Given the description of an element on the screen output the (x, y) to click on. 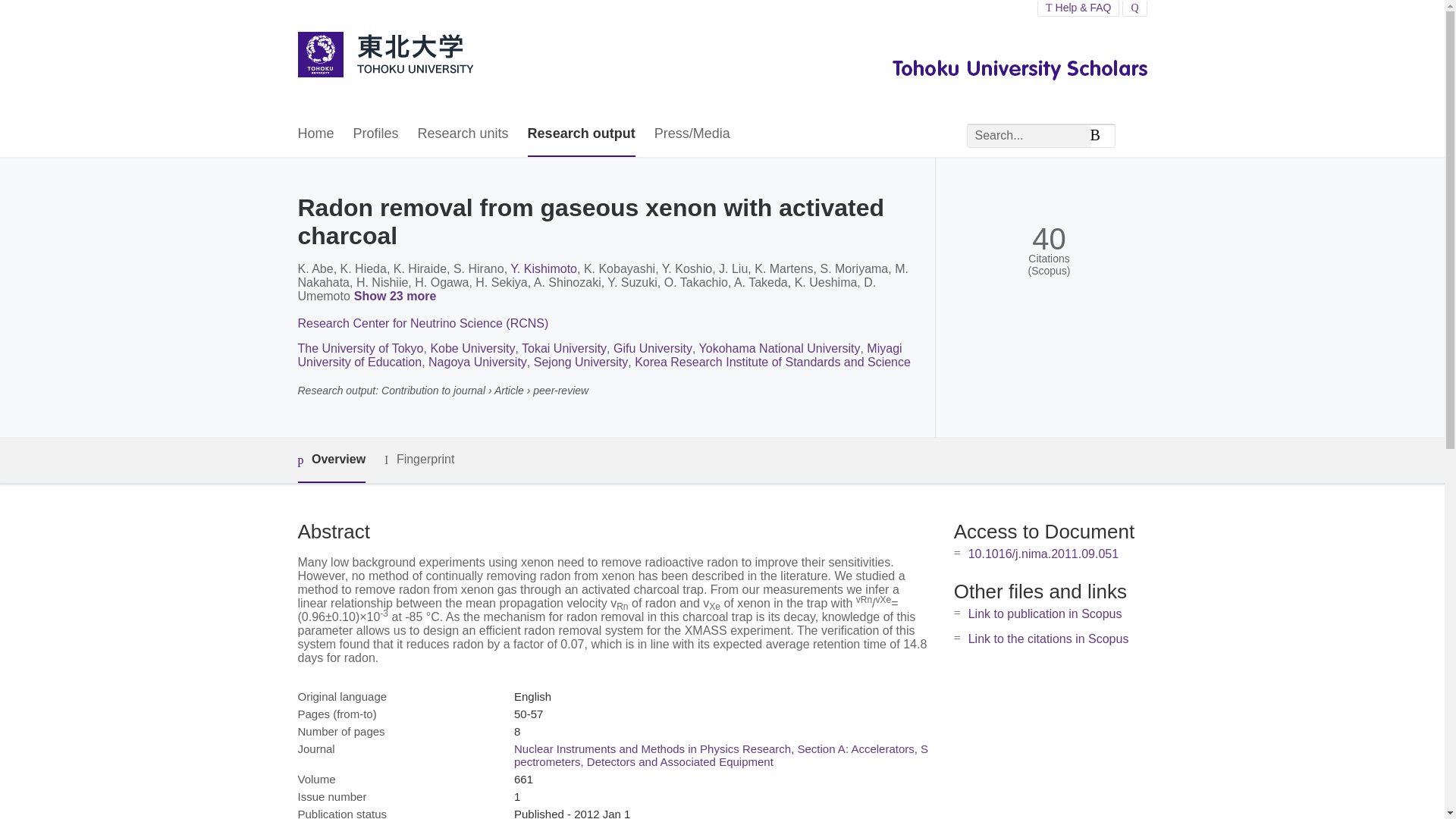
Link to the citations in Scopus (1048, 638)
Nagoya University (477, 361)
Overview (331, 460)
Tokai University (564, 348)
Y. Kishimoto (543, 268)
Tohoku University Home (384, 55)
Link to publication in Scopus (1045, 613)
Gifu University (652, 348)
